Given the description of an element on the screen output the (x, y) to click on. 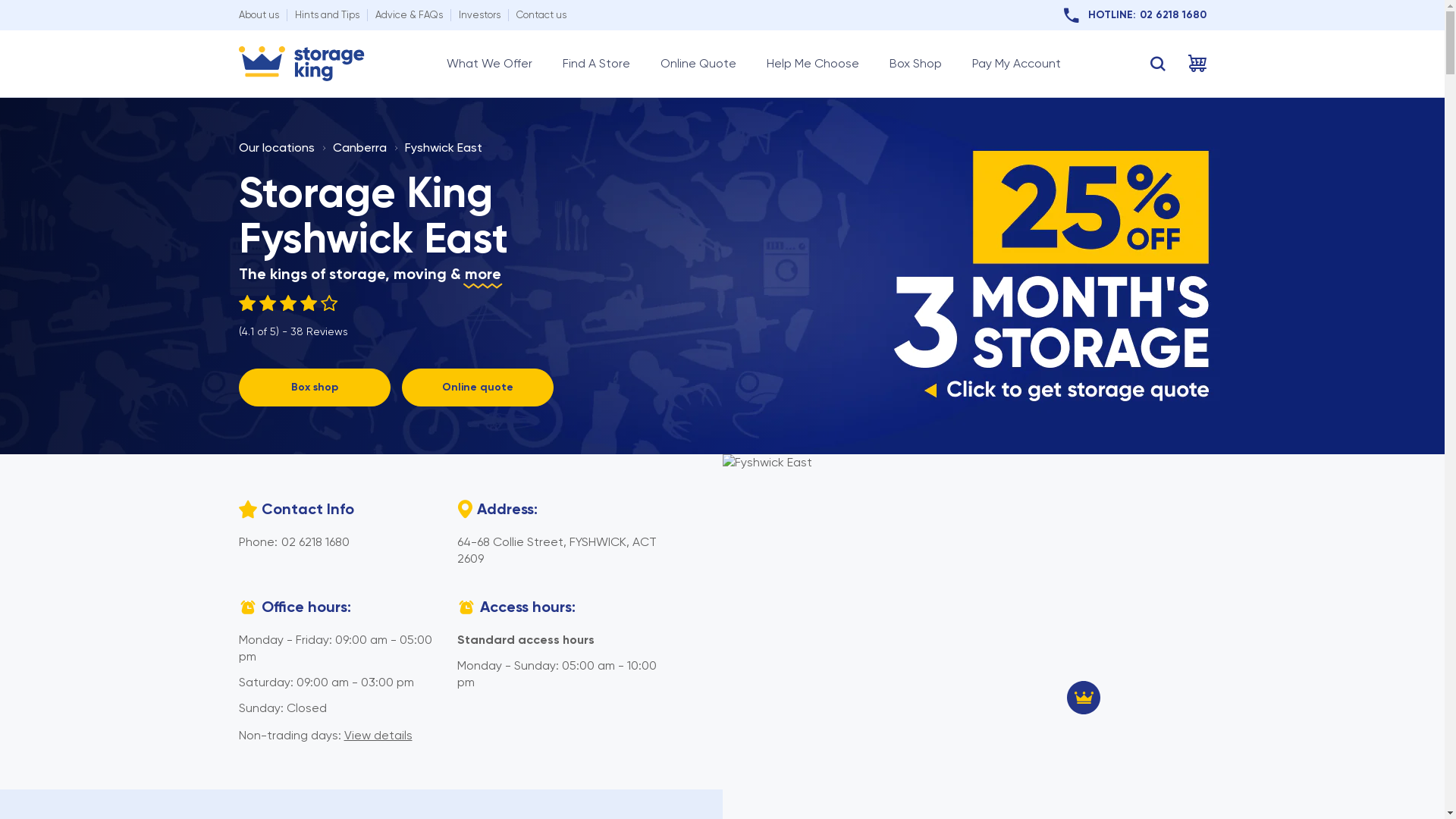
Help Me Choose Element type: text (811, 63)
Canberra Element type: text (358, 147)
Hints and Tips Element type: text (326, 15)
Investors Element type: text (478, 15)
(4.1 of 5) - 38 Reviews Element type: text (292, 316)
HOTLINE:
02 6218 1680 Element type: text (1134, 14)
About us Element type: text (258, 15)
02 6218 1680 Element type: text (314, 541)
64-68 Collie Street, FYSHWICK, ACT 2609 Element type: text (555, 549)
4.10 Element type: hover (292, 303)
Box Shop Element type: text (914, 63)
View details Element type: text (378, 735)
What We Offer Element type: text (488, 63)
Advice & FAQs Element type: text (408, 15)
Box shop Element type: text (313, 387)
Online quote Element type: text (477, 387)
Fyshwick East Element type: text (443, 147)
Online Quote Element type: text (697, 63)
Contact us Element type: text (540, 15)
Find A Store Element type: text (596, 63)
Pay My Account Element type: text (1016, 63)
Our locations Element type: text (275, 147)
